Given the description of an element on the screen output the (x, y) to click on. 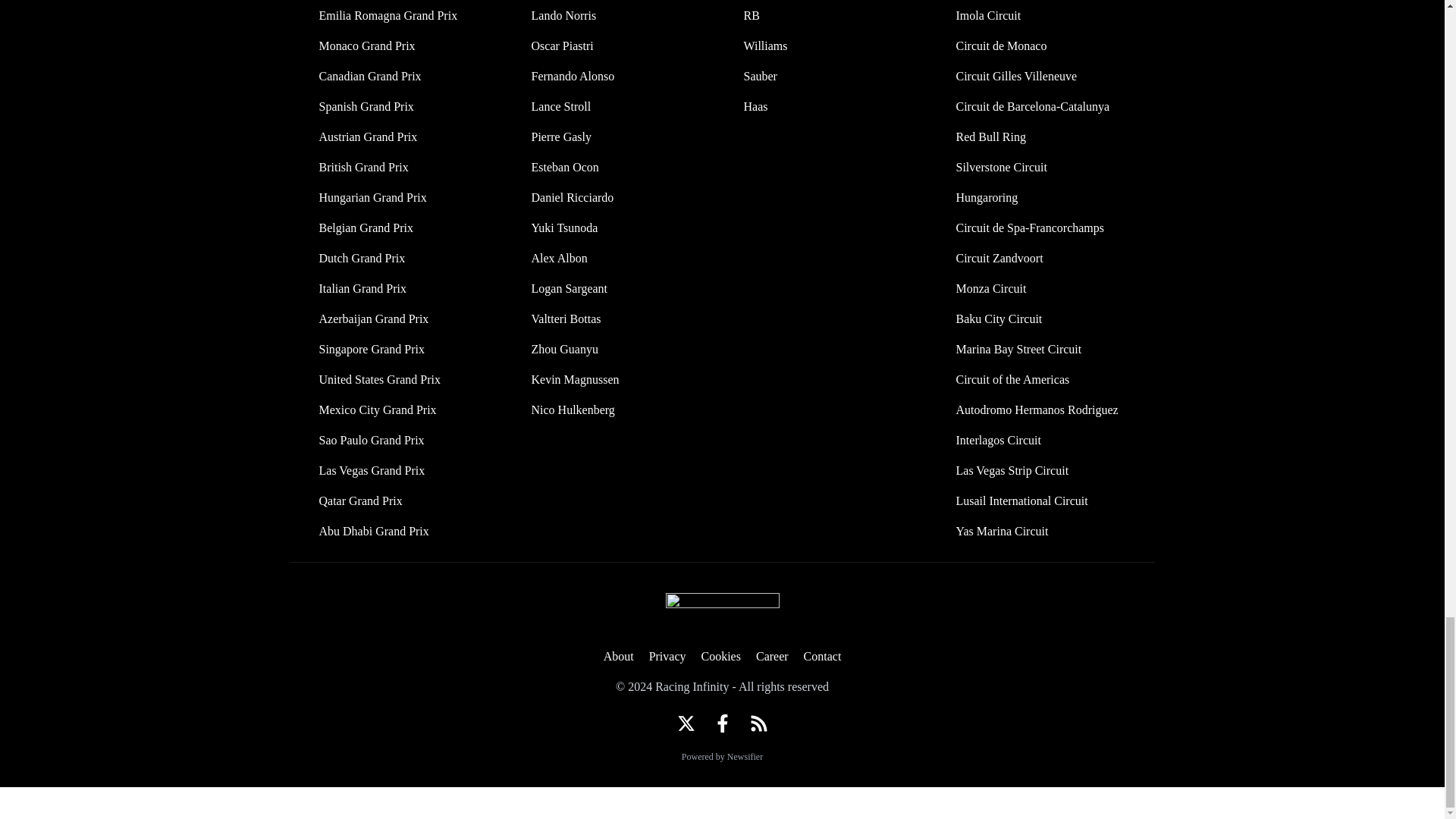
website logo (721, 610)
twitter account (685, 723)
rss feed (758, 723)
facebook account (721, 723)
